Given the description of an element on the screen output the (x, y) to click on. 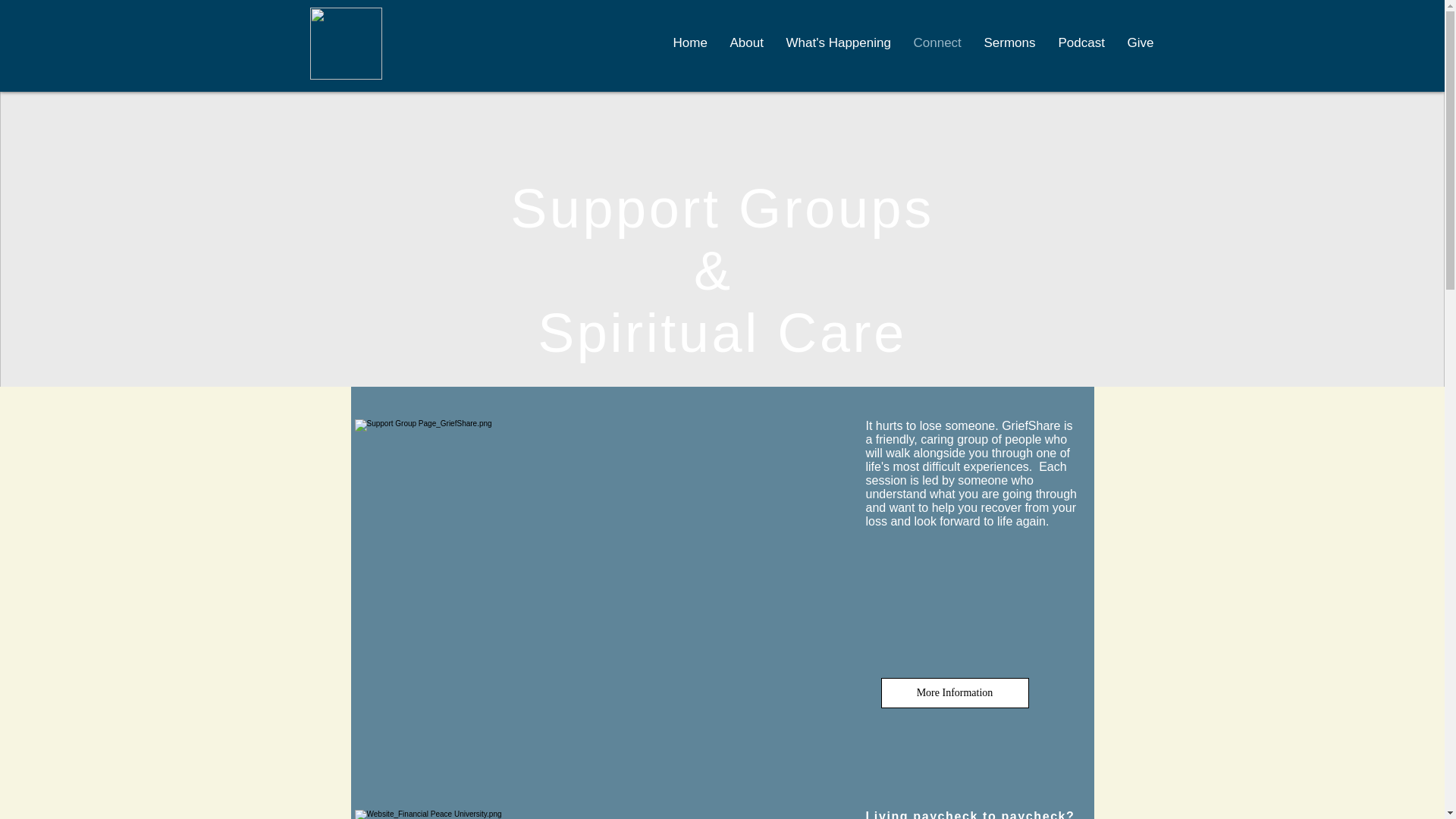
Sermons (1009, 43)
Give (1141, 43)
More Information (954, 693)
Connect (937, 43)
Home (689, 43)
About (746, 43)
Podcast (1080, 43)
What's Happening (838, 43)
